Given the description of an element on the screen output the (x, y) to click on. 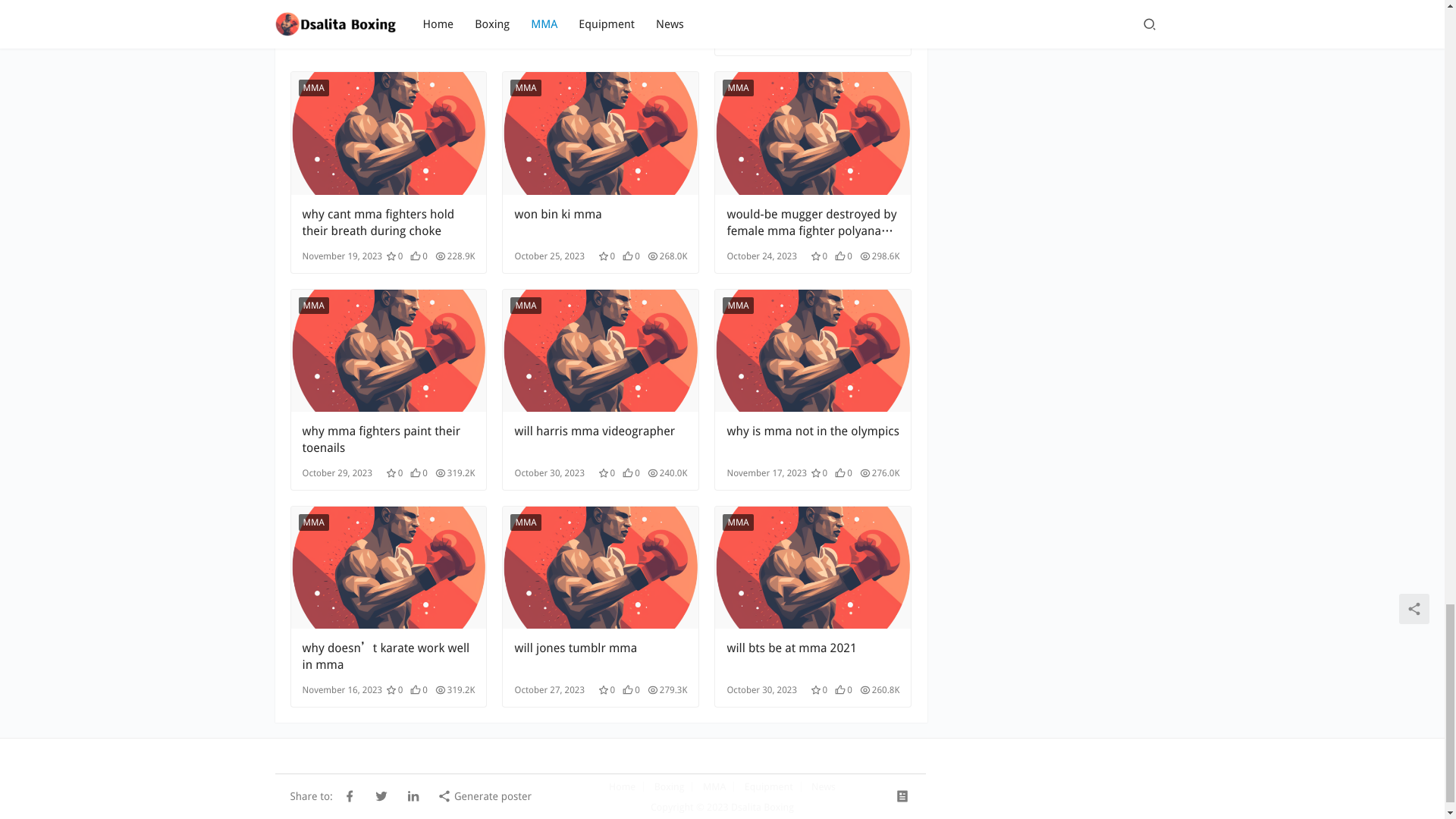
MMA (737, 87)
why mma fighters paint their toenails (387, 439)
MMA (313, 305)
won bin ki mma (600, 133)
will harris mma videographer (600, 439)
will harris mma videographer (600, 350)
why cant mma fighters hold their breath during choke (388, 133)
won bin ki mma (600, 222)
MMA (313, 87)
why cant mma fighters hold their breath during choke (387, 222)
why cant mma fighters hold their breath during choke (387, 222)
why mma fighters paint their toenails (388, 350)
won bin ki mma (600, 222)
